Given the description of an element on the screen output the (x, y) to click on. 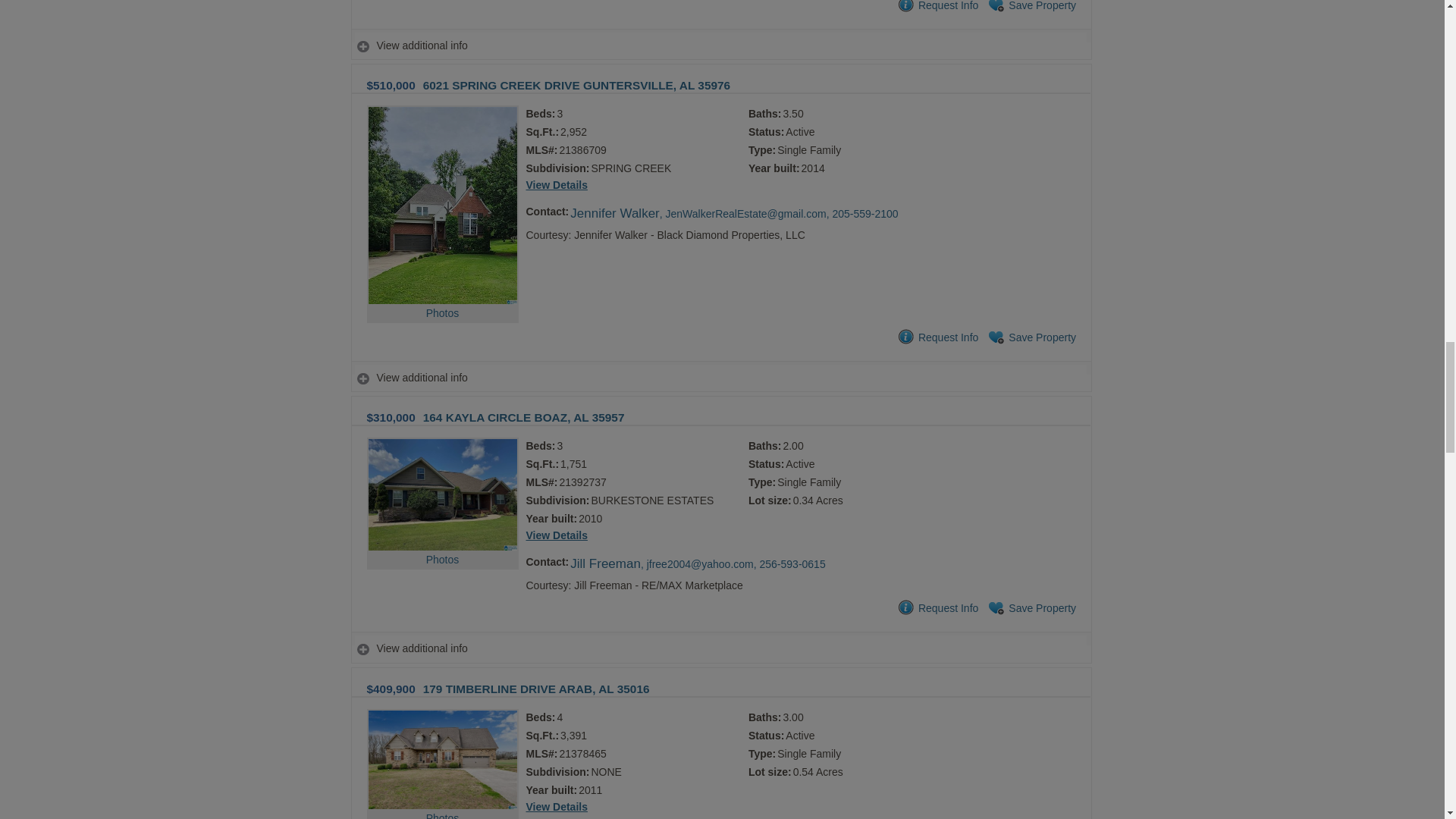
View property remarks and map (720, 378)
View property remarks and map (720, 648)
View property remarks and map (720, 45)
